Given the description of an element on the screen output the (x, y) to click on. 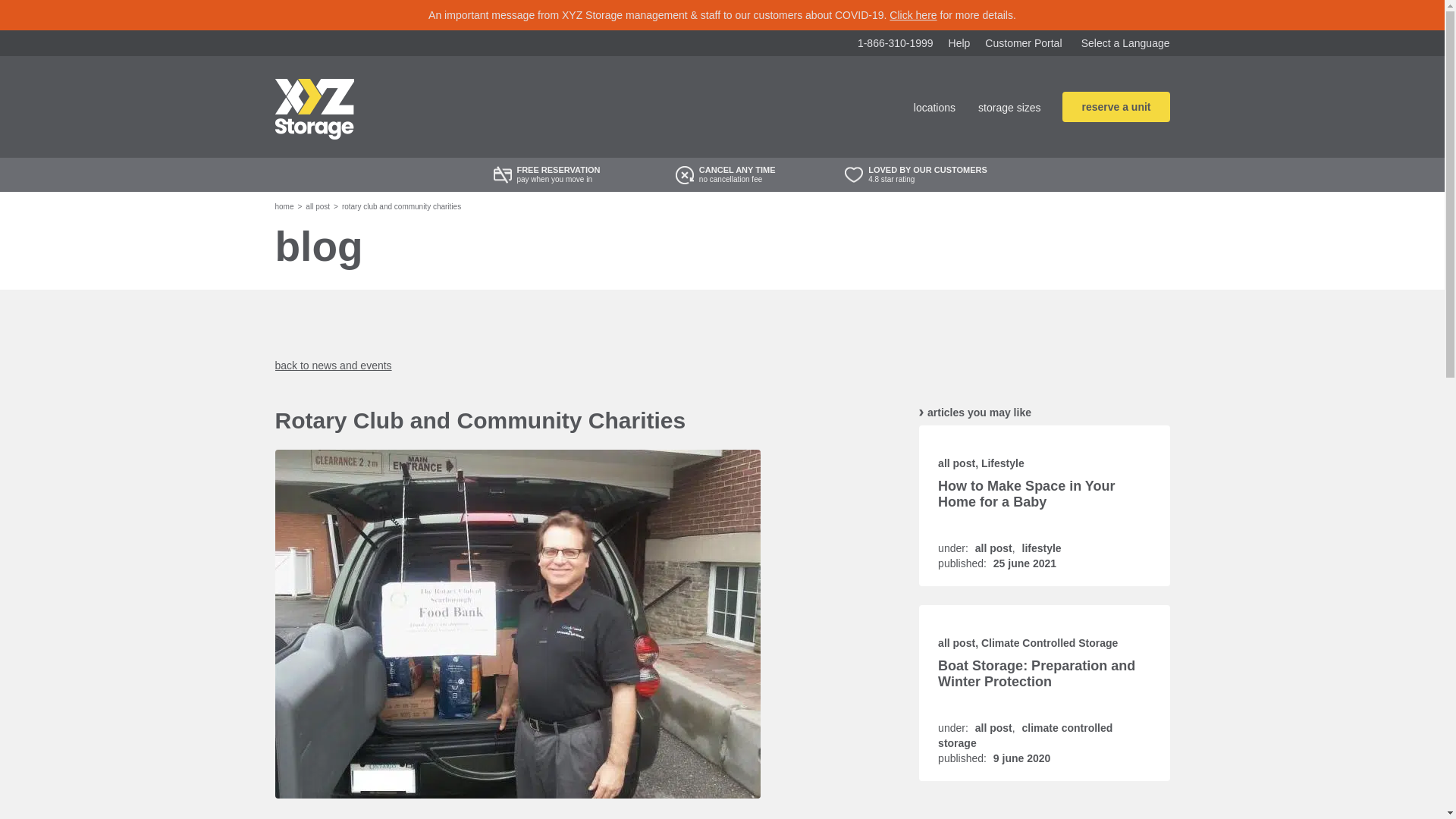
Boat Storage: Preparation and Winter Protection (1036, 673)
all post (956, 643)
Help (960, 43)
lifestyle (1041, 548)
storage sizes (1009, 107)
1-866-310-1999 (895, 43)
all post (956, 463)
home (284, 206)
Climate Controlled Storage (1049, 643)
Customer Portal (1023, 43)
